Given the description of an element on the screen output the (x, y) to click on. 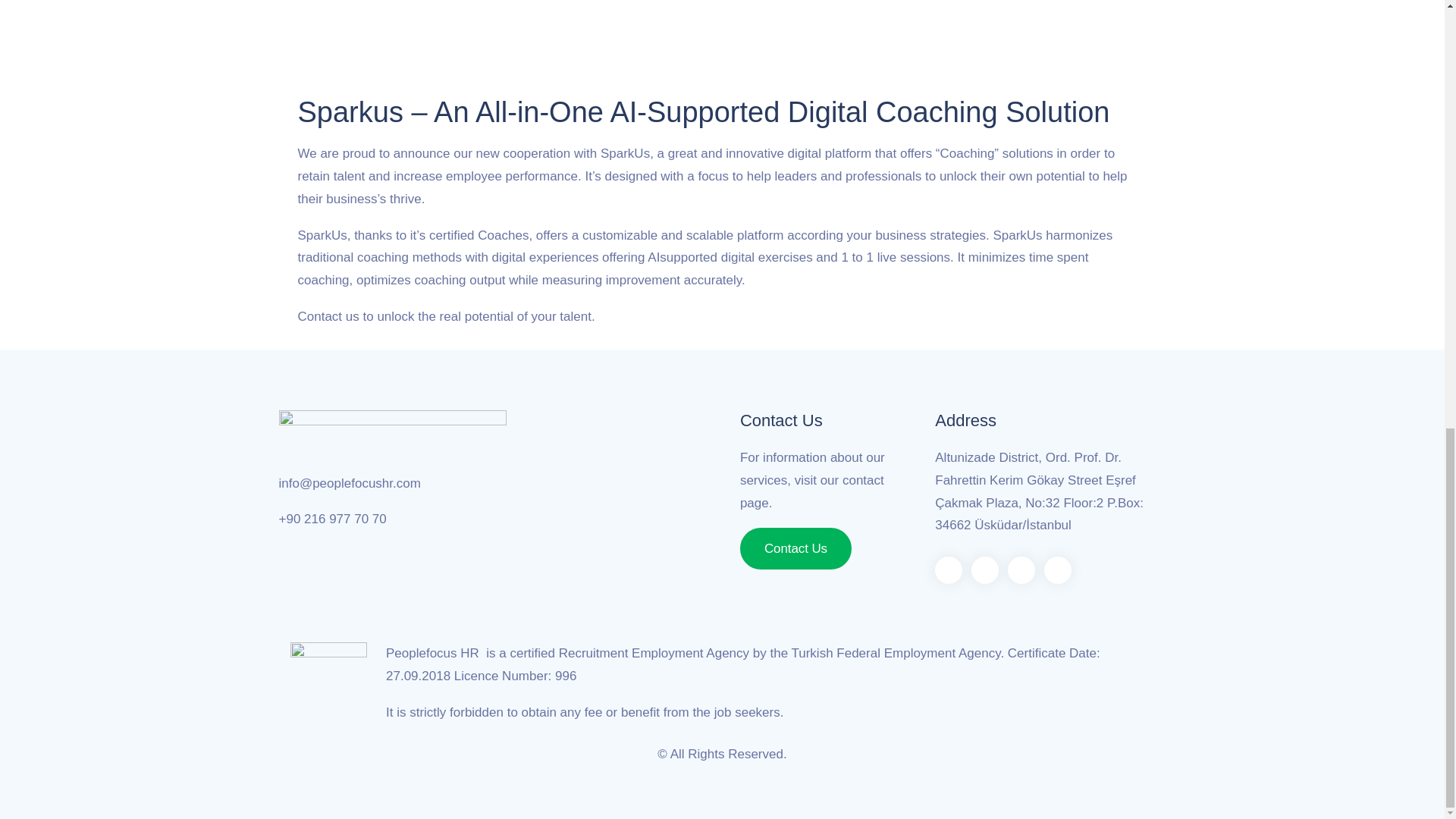
LinkedIn (1020, 570)
YouTube (1057, 570)
YouTube (1057, 569)
Contact Us (795, 548)
Facebook (948, 570)
Facebook (948, 569)
Instagram (984, 570)
Instagram (984, 569)
LinkedIn (1021, 569)
